Given the description of an element on the screen output the (x, y) to click on. 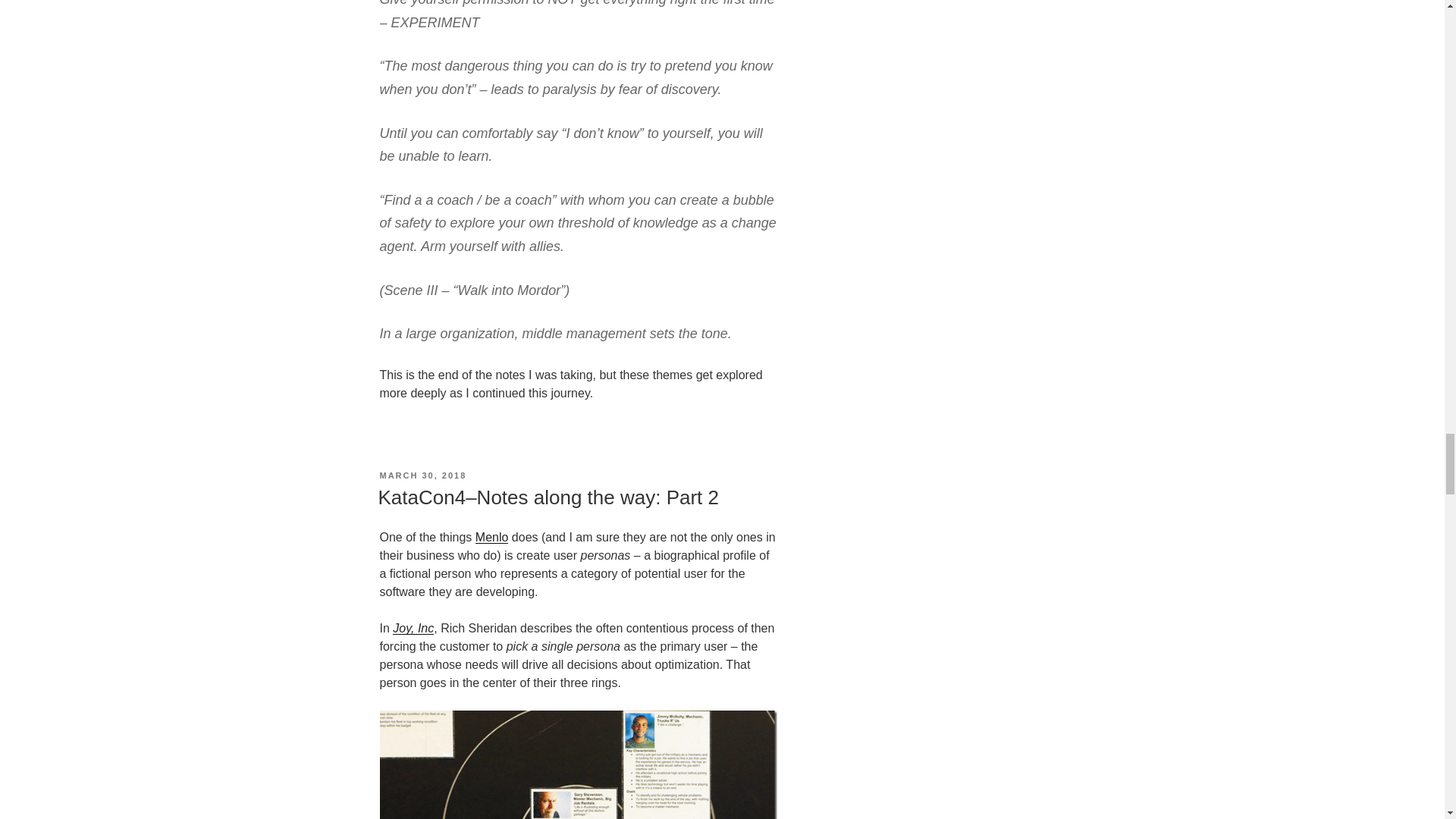
Menlo (492, 536)
Joy, Inc (413, 627)
image (577, 764)
MARCH 30, 2018 (421, 474)
